Given the description of an element on the screen output the (x, y) to click on. 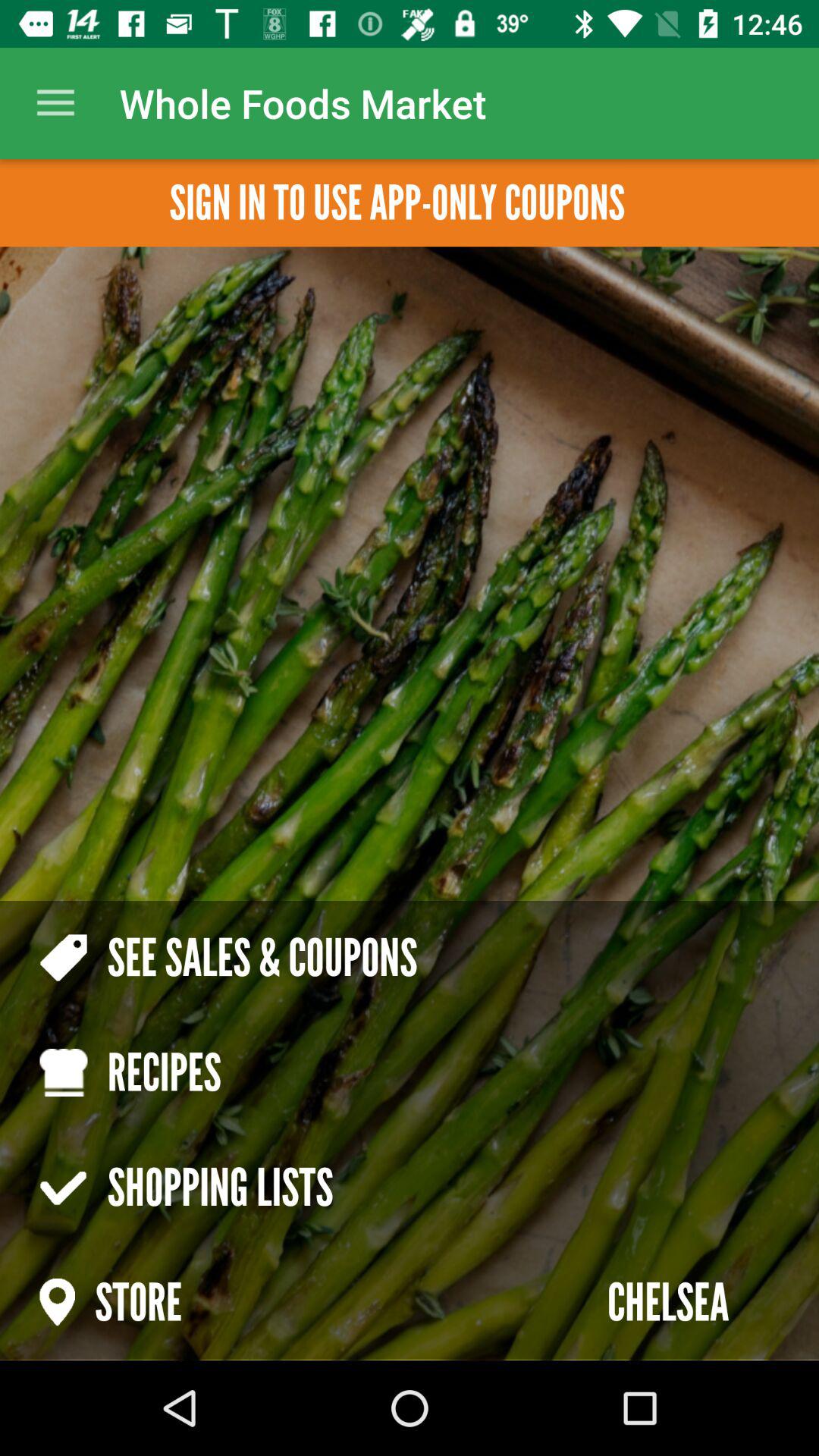
tap item to the left of whole foods market icon (55, 103)
